Given the description of an element on the screen output the (x, y) to click on. 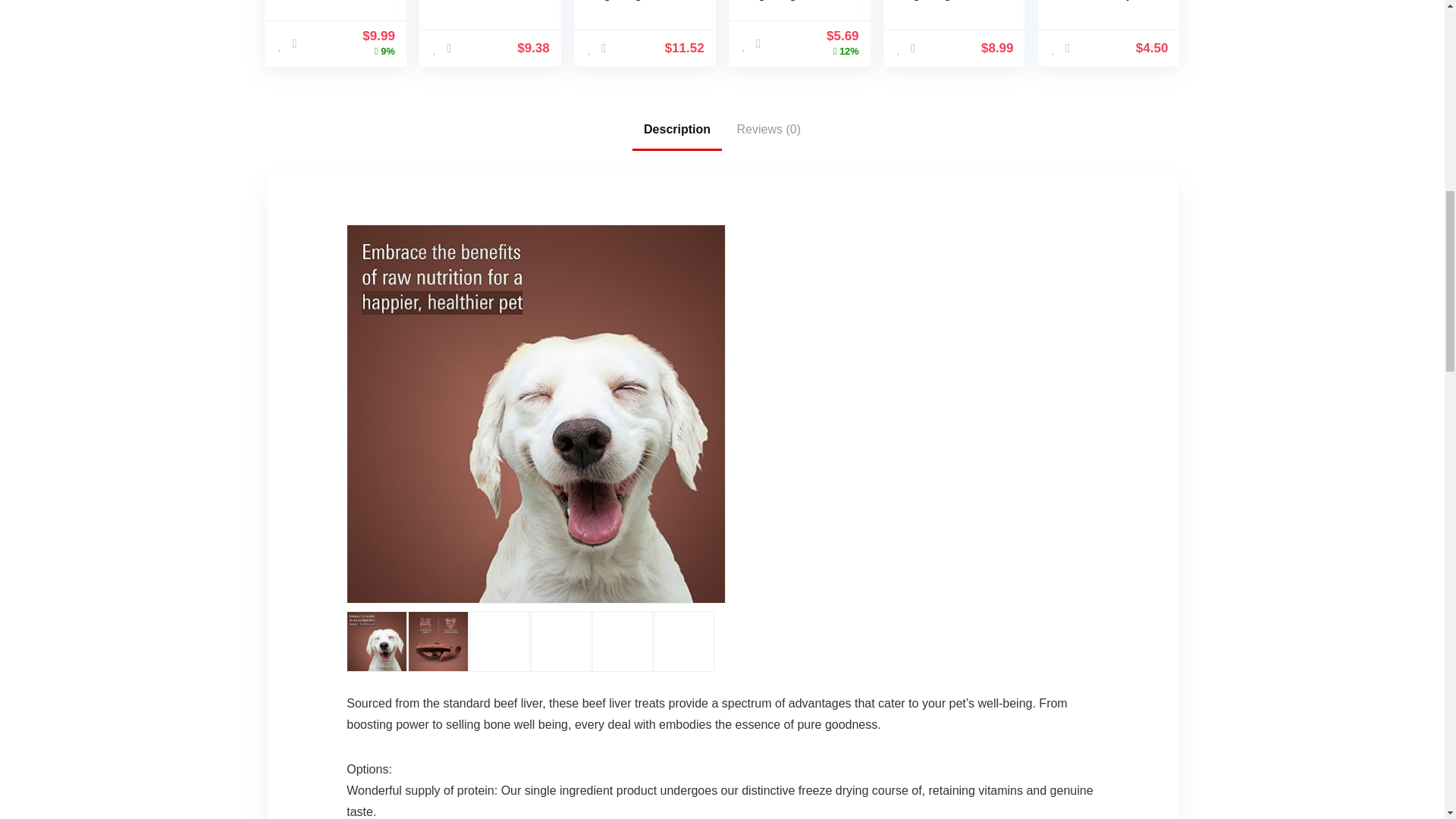
PureBites Salmon Freeze-Dried Treats for Cats (481, 0)
